Given the description of an element on the screen output the (x, y) to click on. 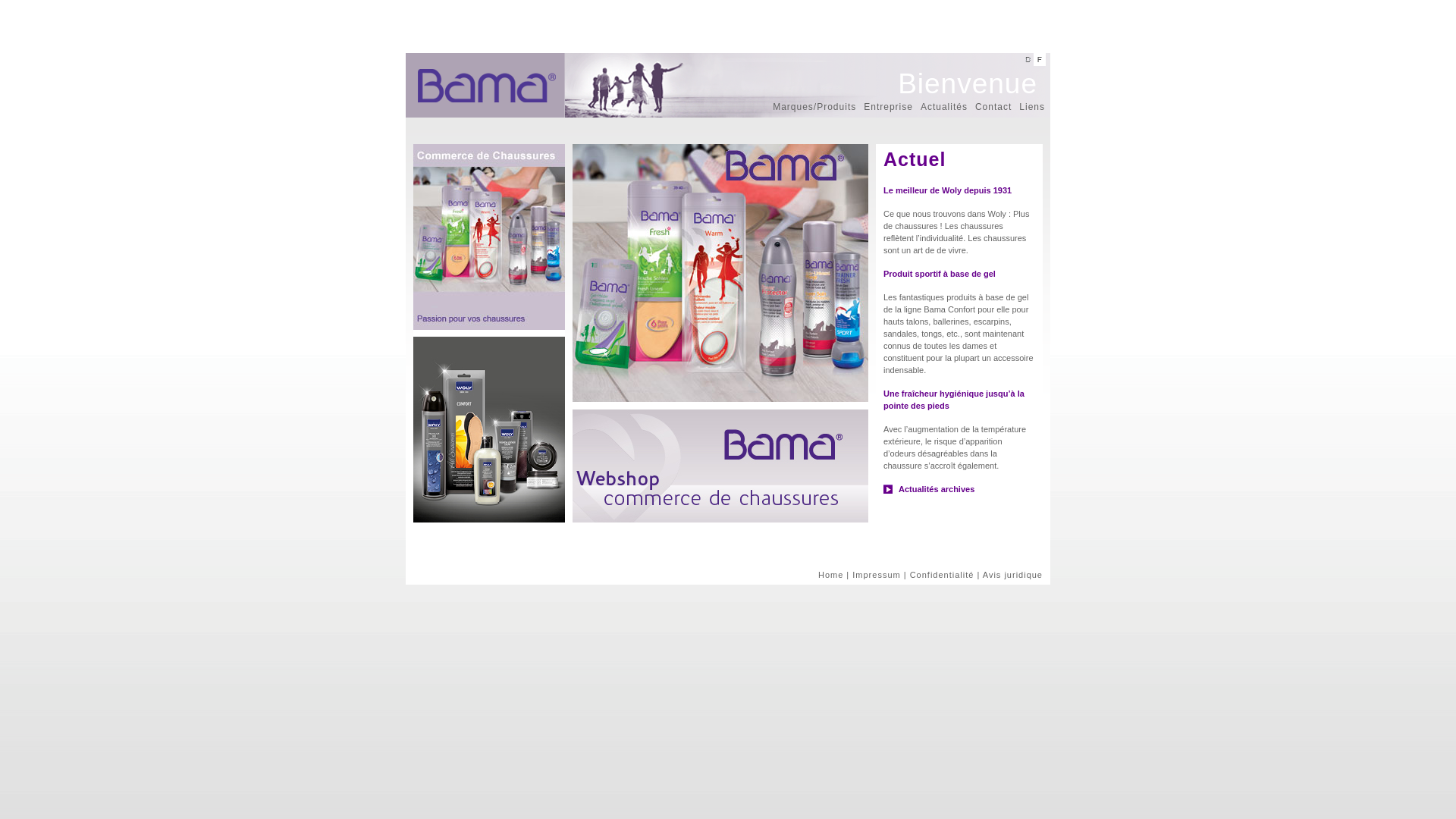
Impressum Element type: text (876, 574)
Liens Element type: text (1031, 106)
Home Element type: text (830, 574)
Avis juridique Element type: text (1012, 574)
Entreprise Element type: text (888, 106)
Contact Element type: text (993, 106)
Marques/Produits Element type: text (814, 106)
Le meilleur de Woly depuis 1931 Element type: text (947, 189)
